Given the description of an element on the screen output the (x, y) to click on. 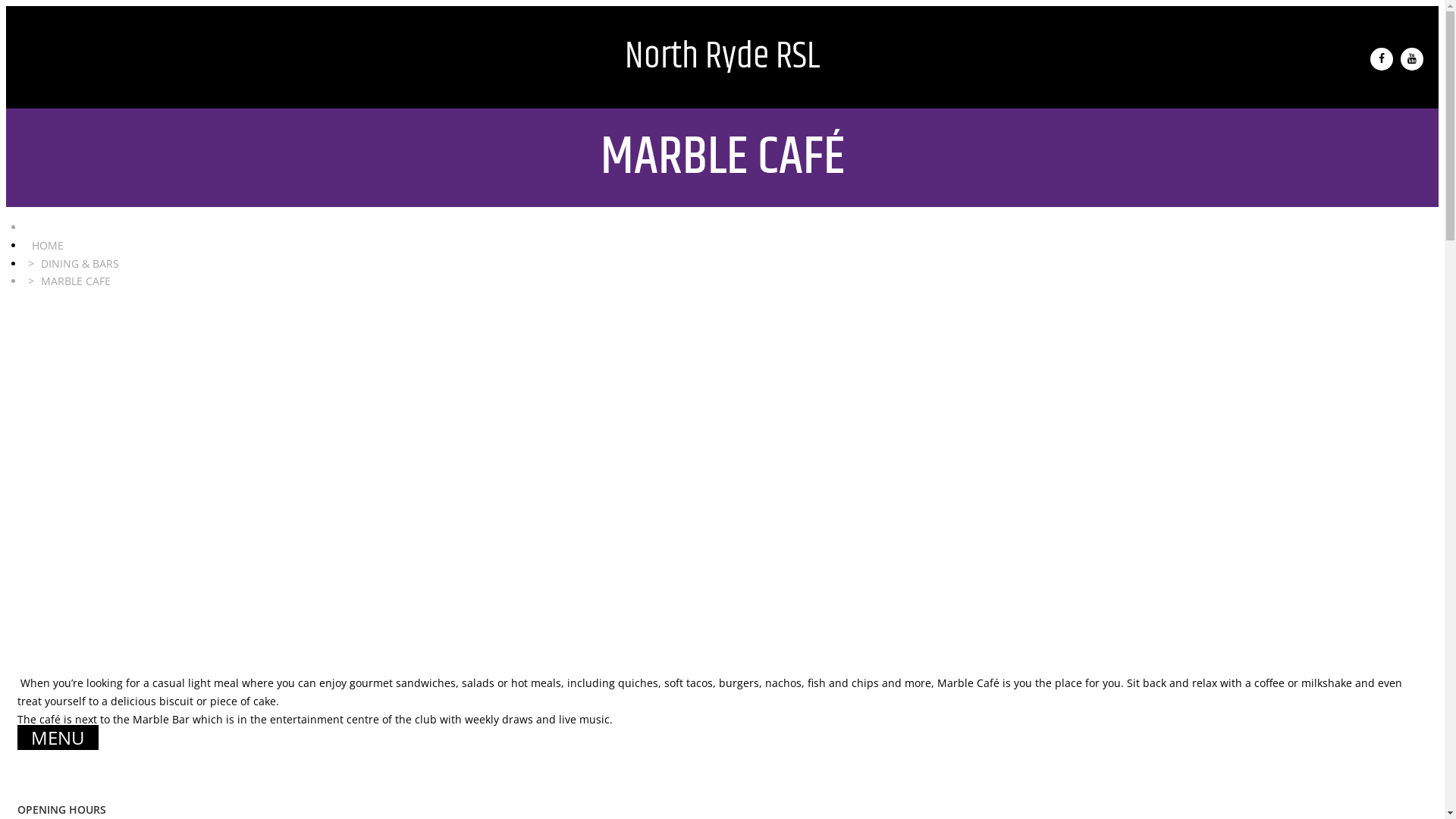
DINING & BARS Element type: text (79, 263)
North Ryde RSL Element type: text (722, 57)
HOME Element type: text (47, 245)
   MENU    Element type: text (57, 736)
